Given the description of an element on the screen output the (x, y) to click on. 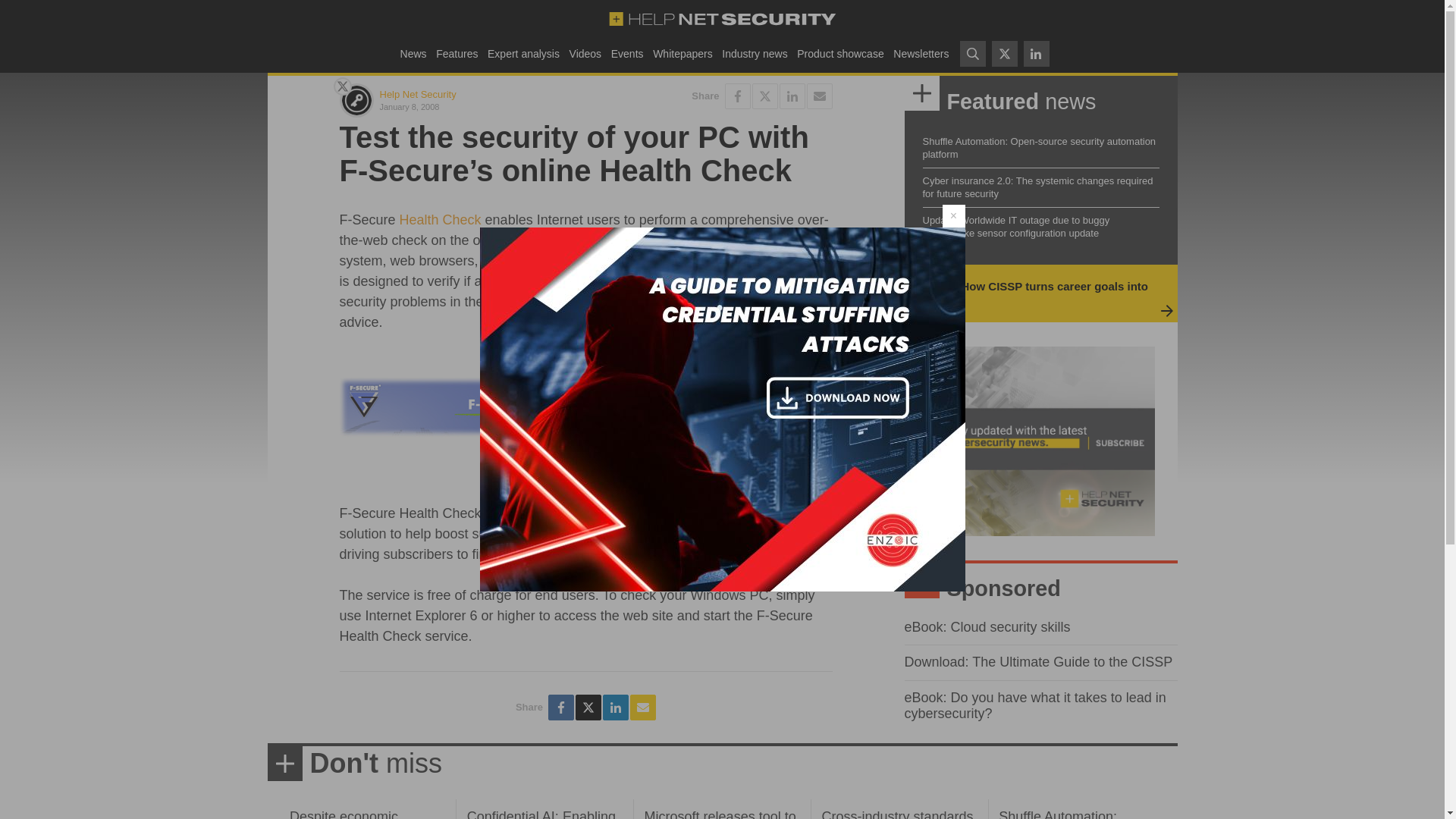
Download: The Ultimate Guide to the CISSP (1038, 661)
Help Net Security (416, 93)
Cross-industry standards for data provenance in AI (896, 814)
January 8, 2008 (478, 106)
News (412, 53)
eBook: Cloud security skills (987, 626)
Newsletters (920, 53)
Download: The Ultimate Guide to the CISSP (1038, 661)
Shuffle Automation: Open-source security automation platform (1038, 147)
Industry news (754, 53)
Shuffle Automation: Open-source security automation platform (1063, 814)
eBook: How CISSP turns career goals into reality (1032, 293)
